Given the description of an element on the screen output the (x, y) to click on. 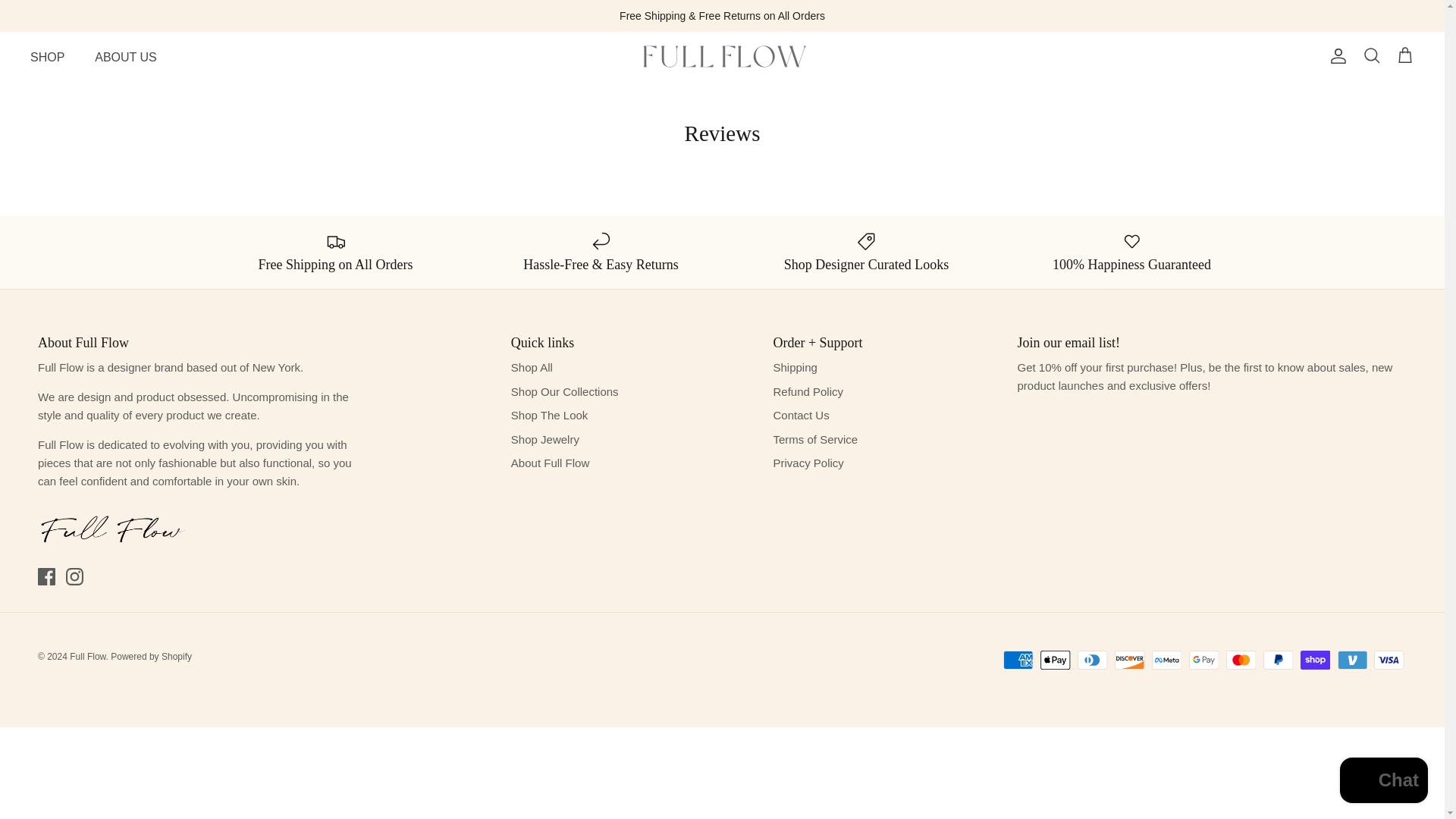
Account (1335, 55)
Shop Pay (1315, 659)
Mastercard (1240, 659)
ABOUT US (125, 57)
Meta Pay (1166, 659)
Visa (1388, 659)
Facebook (46, 576)
Cart (1404, 55)
Full Flow (721, 56)
Instagram (73, 576)
